Given the description of an element on the screen output the (x, y) to click on. 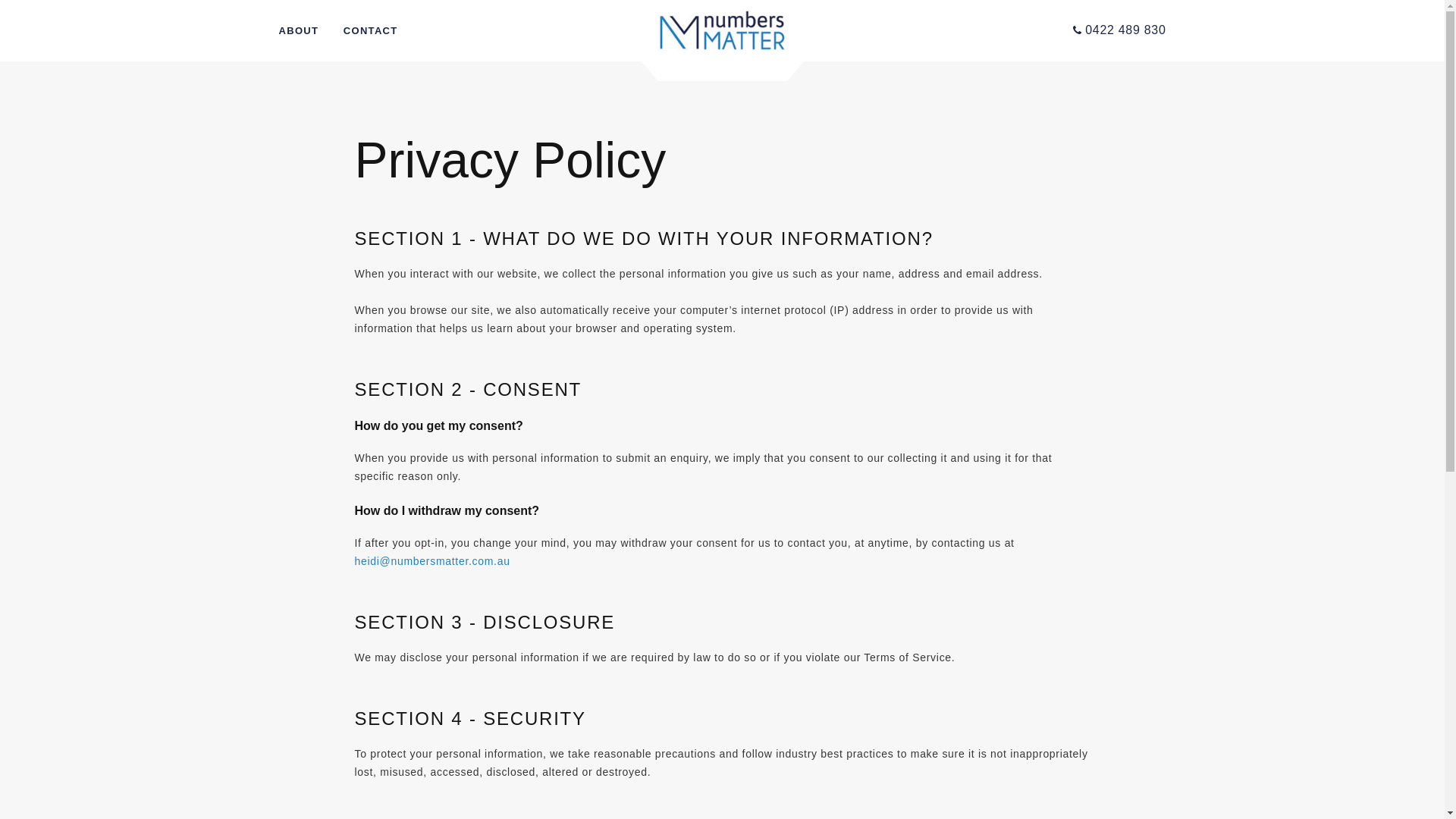
CONTACT Element type: text (370, 30)
heidi@numbersmatter.com.au Element type: text (432, 561)
0422 489 830 Element type: text (1119, 30)
ABOUT Element type: text (299, 30)
